Given the description of an element on the screen output the (x, y) to click on. 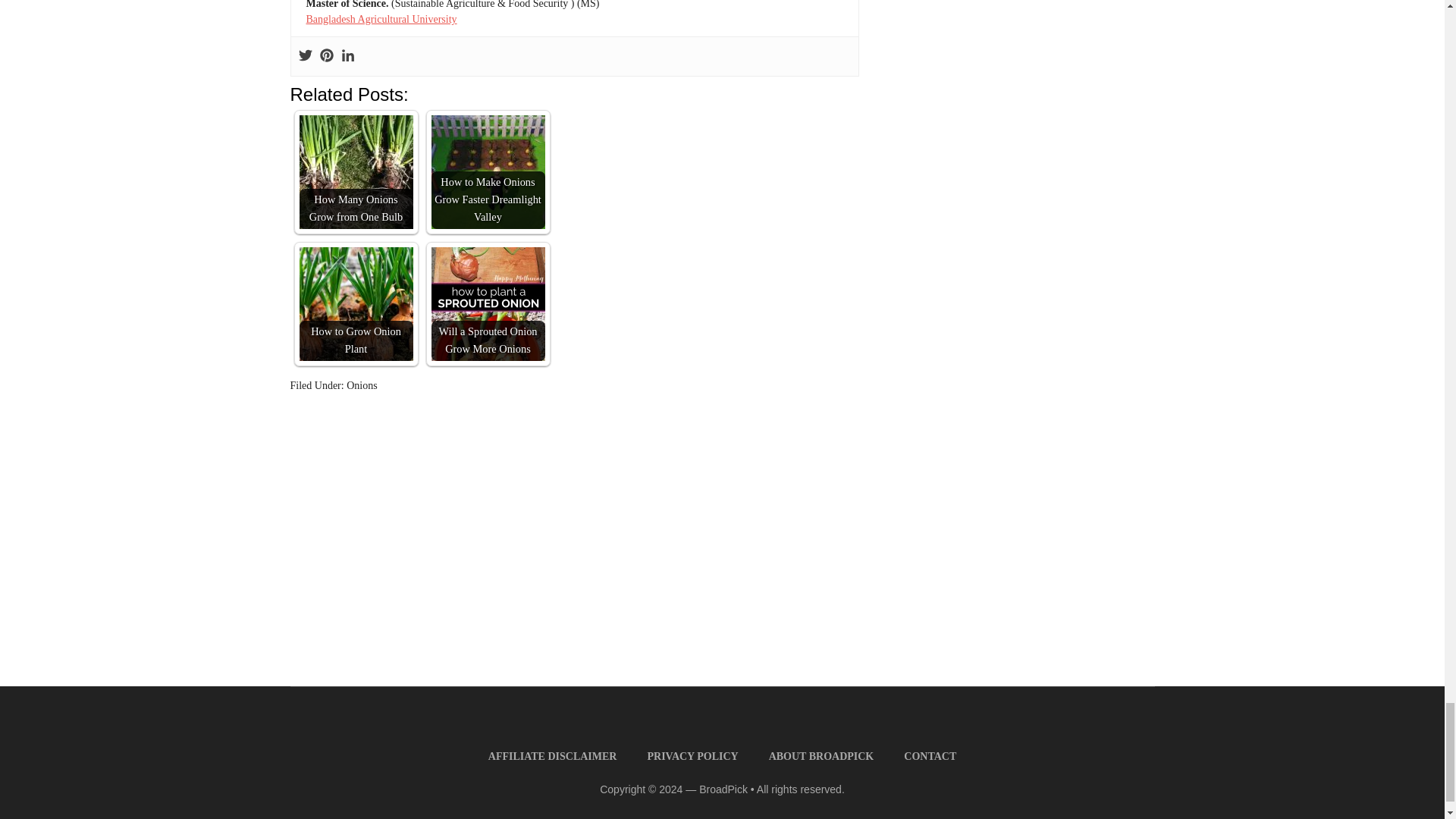
How to Grow Onion Plant (355, 304)
How Many Onions Grow from One Bulb (355, 172)
How to Make Onions Grow Faster Dreamlight Valley (487, 172)
BroadPick (723, 788)
Bangladesh Agricultural University (381, 19)
Will a Sprouted Onion Grow More Onions (487, 304)
